Given the description of an element on the screen output the (x, y) to click on. 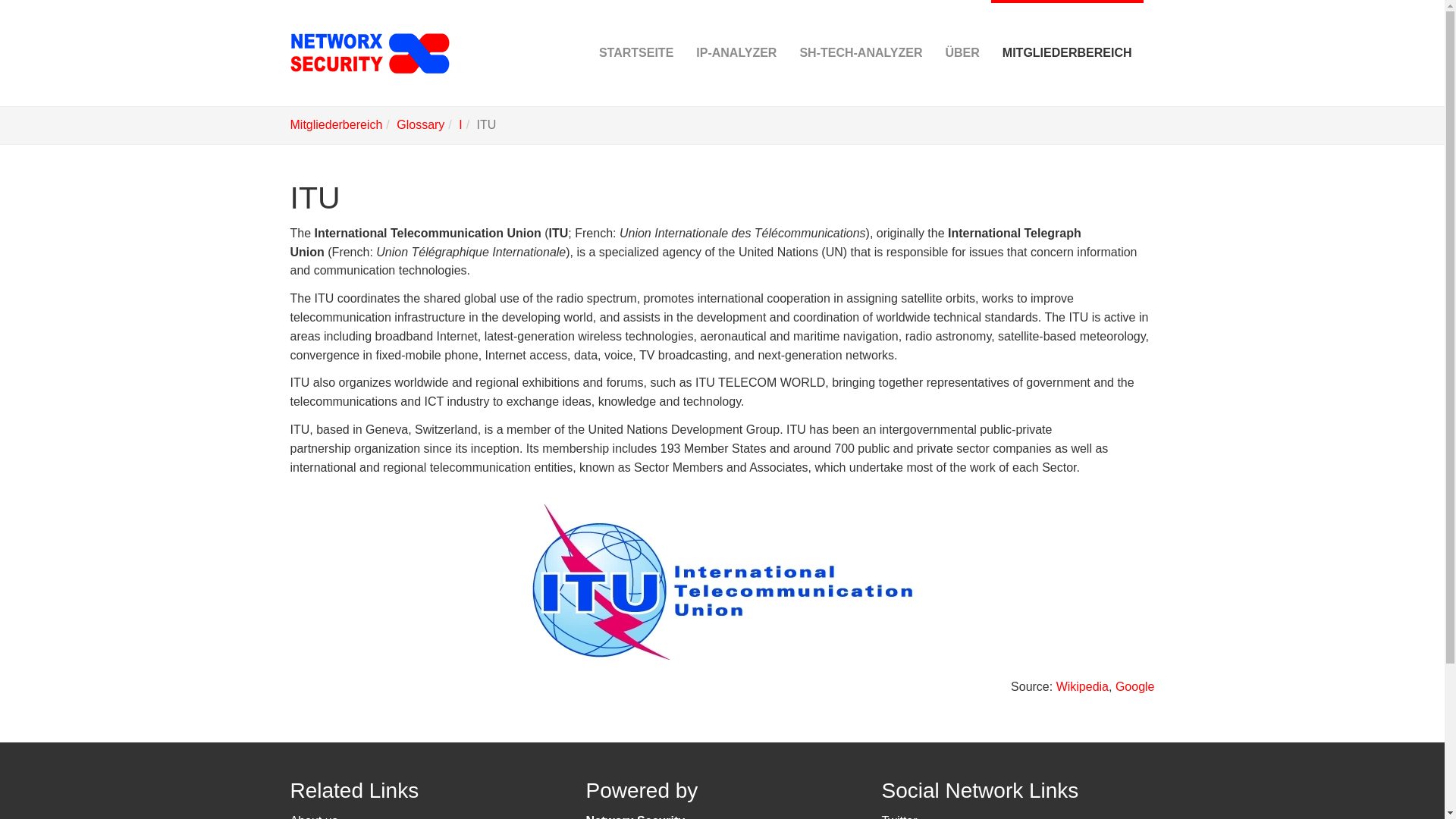
Networx Security (634, 816)
Mitgliederbereich (335, 124)
About us (313, 816)
SH-TECH-ANALYZER (860, 53)
IP-ANALYZER (735, 53)
IP-Analyzer (735, 53)
Glossary (420, 124)
Startseite (636, 53)
Wikipedia (1082, 686)
Google (1134, 686)
Mitgliederbereich (335, 124)
MITGLIEDERBEREICH (1066, 53)
Glossary (420, 124)
Twitter (898, 816)
STARTSEITE (636, 53)
